Given the description of an element on the screen output the (x, y) to click on. 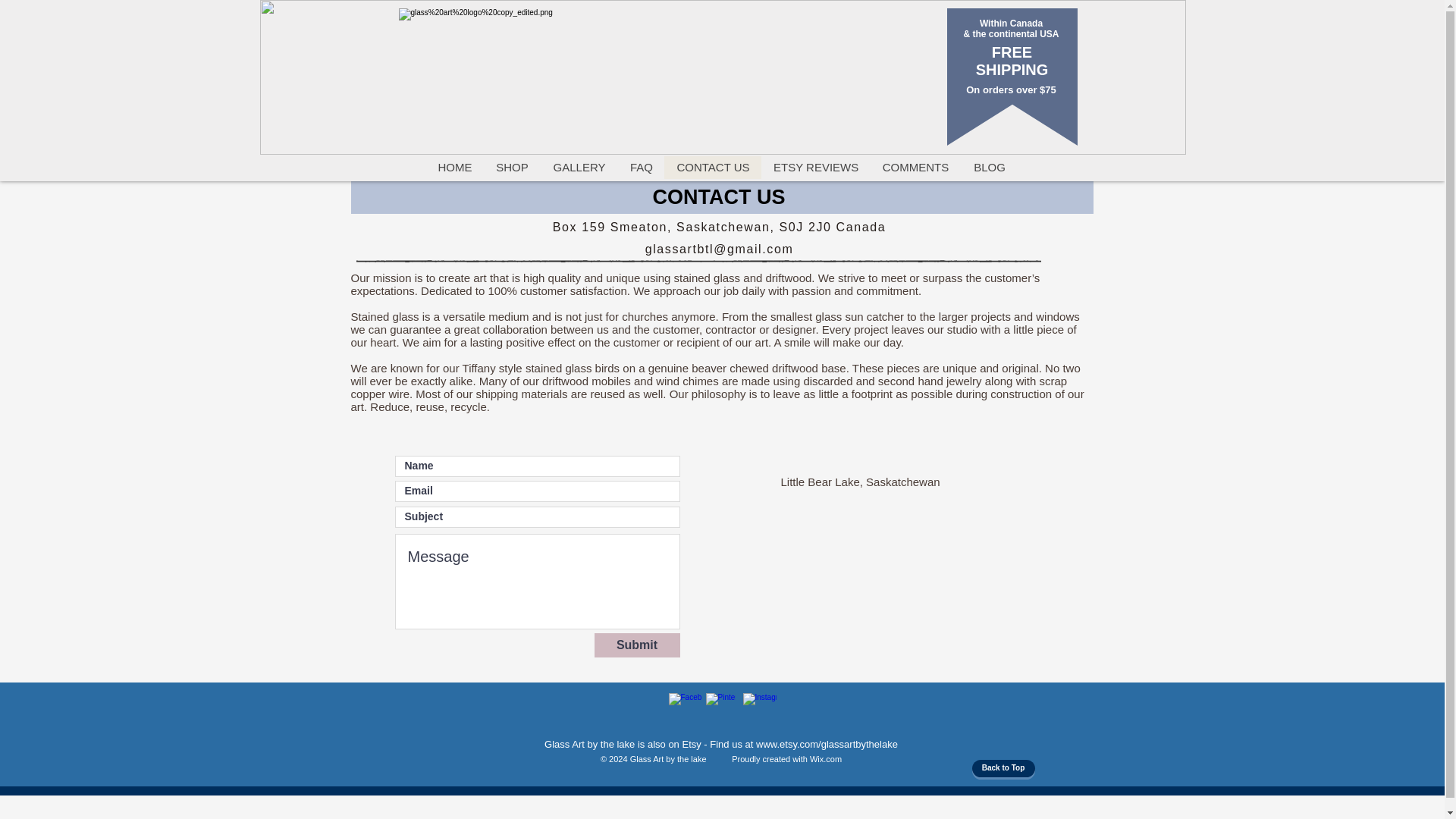
Submit (636, 645)
SHOP (511, 167)
BLOG (988, 167)
ETSY REVIEWS (815, 167)
CONTACT US (712, 167)
GALLERY (578, 167)
HOME (454, 167)
Back to Top (1003, 768)
Wix.com (825, 758)
COMMENTS (914, 167)
